Given the description of an element on the screen output the (x, y) to click on. 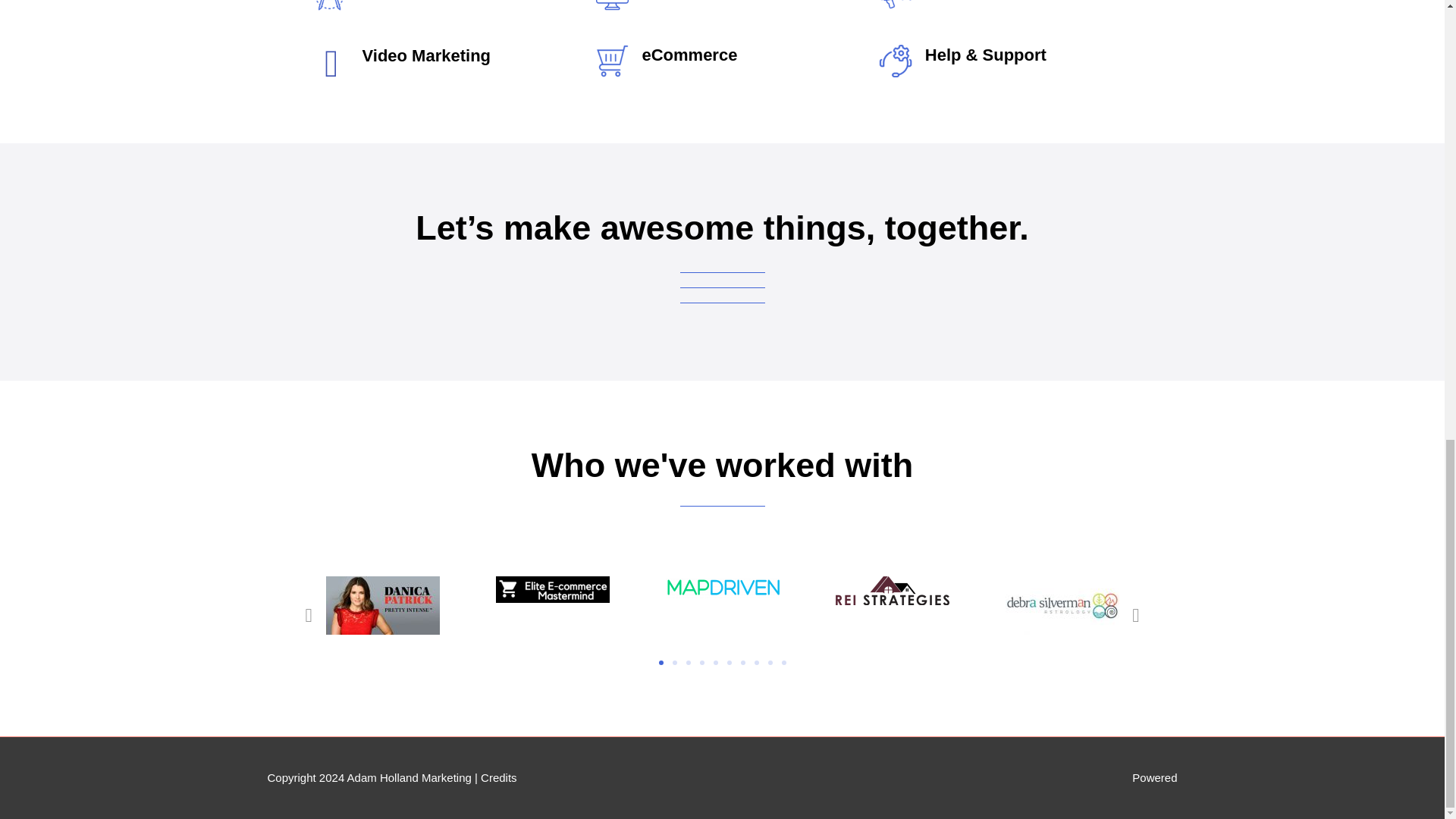
Credits (498, 777)
